Given the description of an element on the screen output the (x, y) to click on. 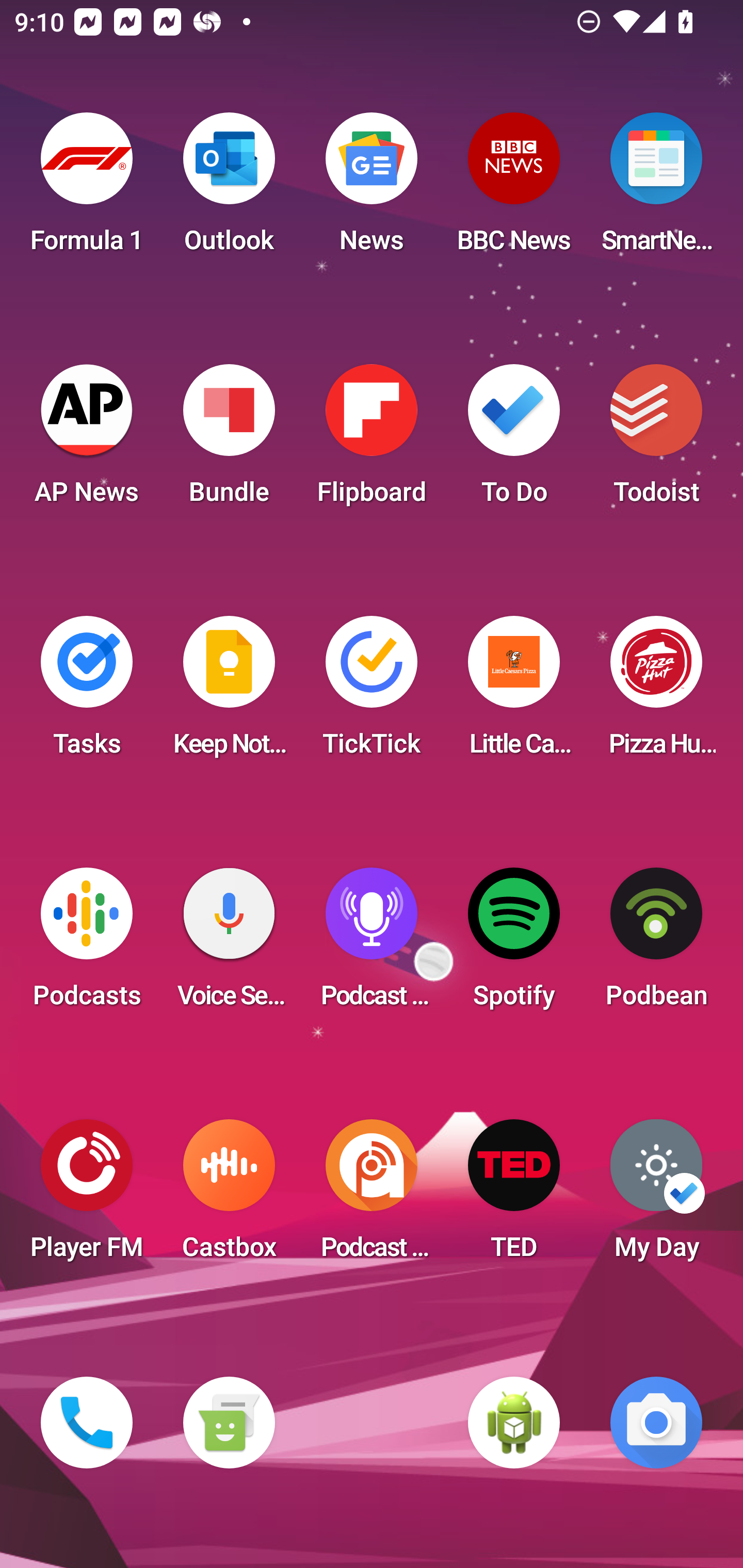
Formula 1 (86, 188)
Outlook (228, 188)
News (371, 188)
BBC News (513, 188)
SmartNews (656, 188)
AP News (86, 440)
Bundle (228, 440)
Flipboard (371, 440)
To Do (513, 440)
Todoist (656, 440)
Tasks (86, 692)
Keep Notes (228, 692)
TickTick (371, 692)
Little Caesars Pizza (513, 692)
Pizza Hut HK & Macau (656, 692)
Podcasts (86, 943)
Voice Search (228, 943)
Podcast Player (371, 943)
Spotify (513, 943)
Podbean (656, 943)
Player FM (86, 1195)
Castbox (228, 1195)
Podcast Addict (371, 1195)
TED (513, 1195)
My Day (656, 1195)
Phone (86, 1422)
Messaging (228, 1422)
WebView Browser Tester (513, 1422)
Camera (656, 1422)
